Given the description of an element on the screen output the (x, y) to click on. 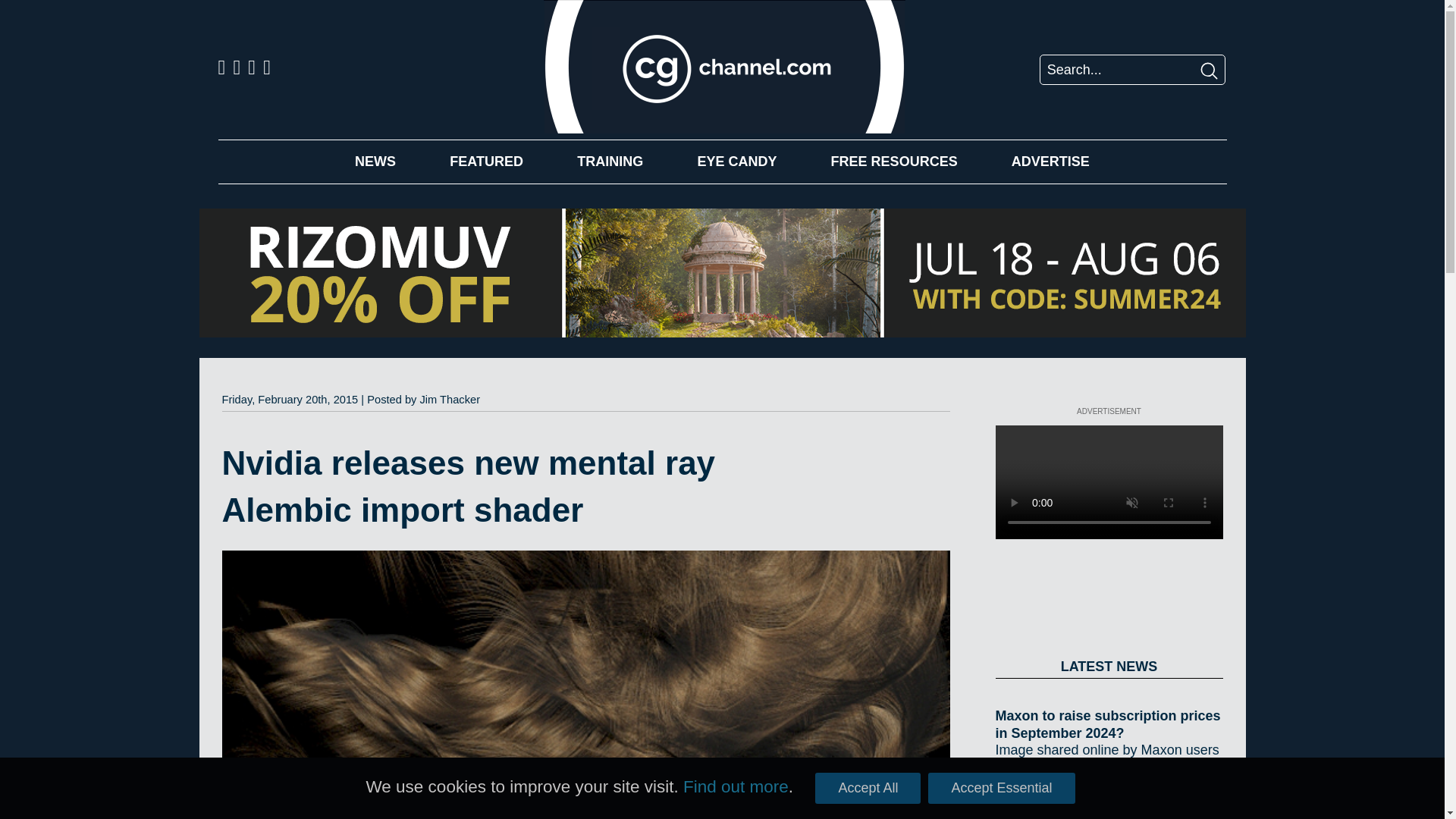
ADVERTISE (1050, 160)
Maxon to raise subscription prices in September 2024? (1108, 724)
FREE RESOURCES (894, 160)
EYE CANDY (736, 160)
FEATURED (485, 160)
TRAINING (609, 160)
LATEST NEWS (1108, 666)
NEWS (375, 160)
